Given the description of an element on the screen output the (x, y) to click on. 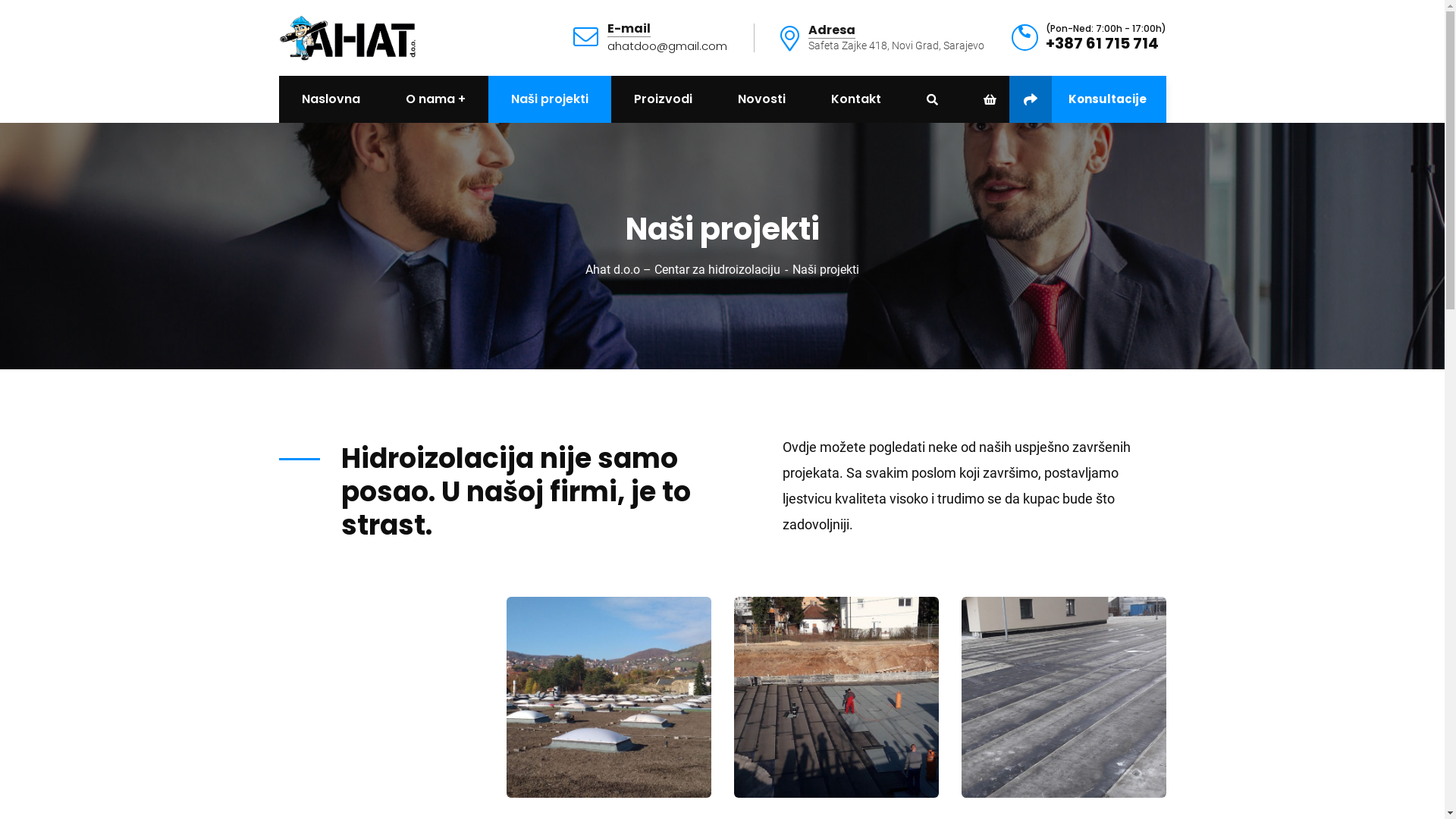
projekatparking1 Element type: hover (1063, 696)
Novosti Element type: text (760, 98)
projekatbazen1 Element type: hover (836, 696)
VOLKWAGEN Element type: hover (608, 696)
Proizvodi Element type: text (663, 98)
Naslovna Element type: text (330, 98)
O nama Element type: text (434, 98)
+387 61 715 714 Element type: text (1100, 42)
AHAT D.O.O Element type: hover (347, 36)
Konsultacije Element type: text (1086, 98)
Kontakt Element type: text (855, 98)
ahatdoo@gmail.com Element type: text (666, 45)
